Given the description of an element on the screen output the (x, y) to click on. 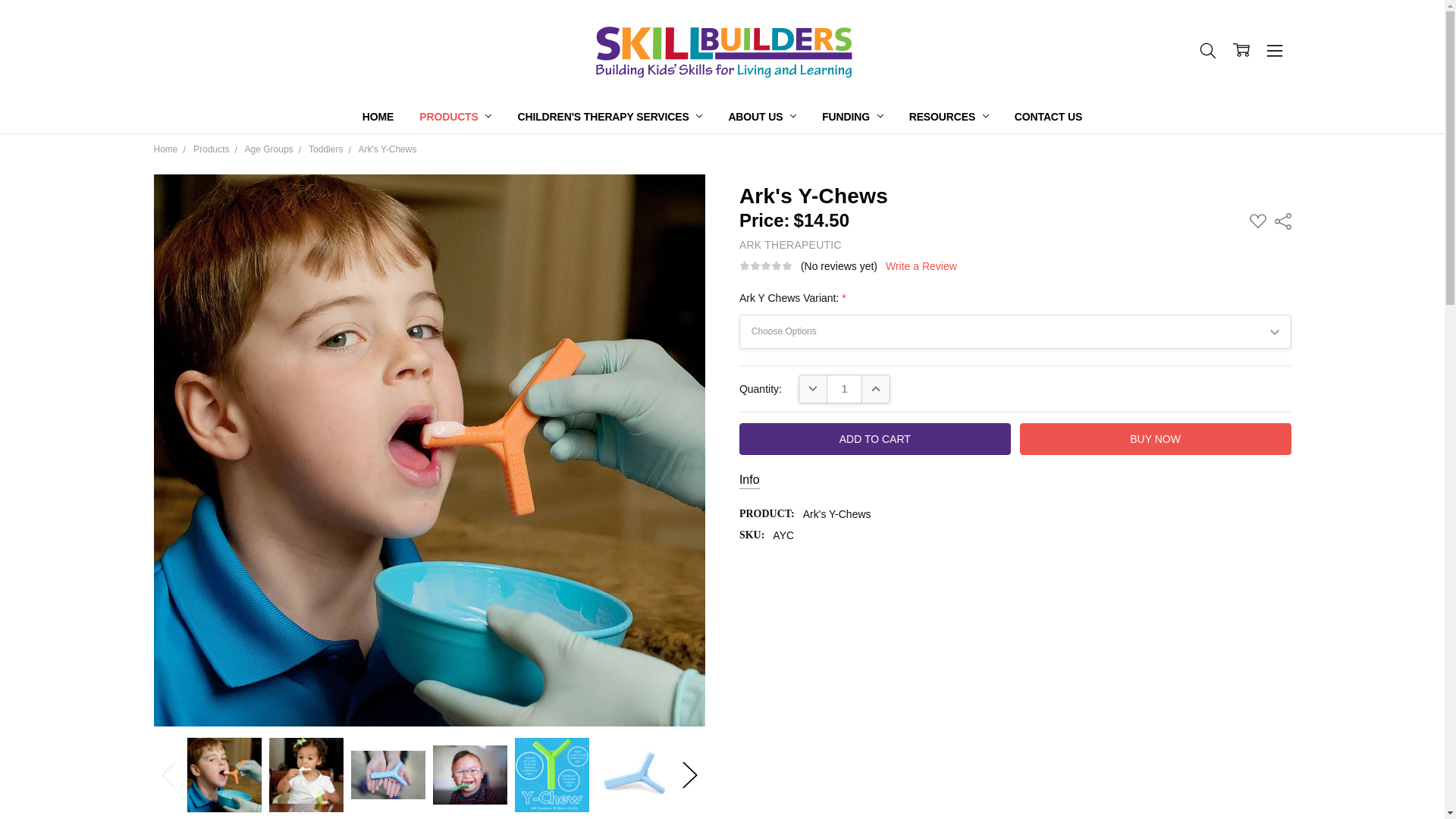
PRODUCTS (454, 116)
Buy Now (1155, 439)
Add to Cart (874, 439)
HOME (377, 116)
Ark's Y-Chews (633, 775)
Ark's Y-Chews (470, 774)
1 (844, 388)
Ark's Y-Chews (224, 775)
Ark's Y-Chews (551, 775)
Show All (743, 116)
Ark's Y-Chews (305, 775)
Ark's Y-Chews (388, 775)
